Given the description of an element on the screen output the (x, y) to click on. 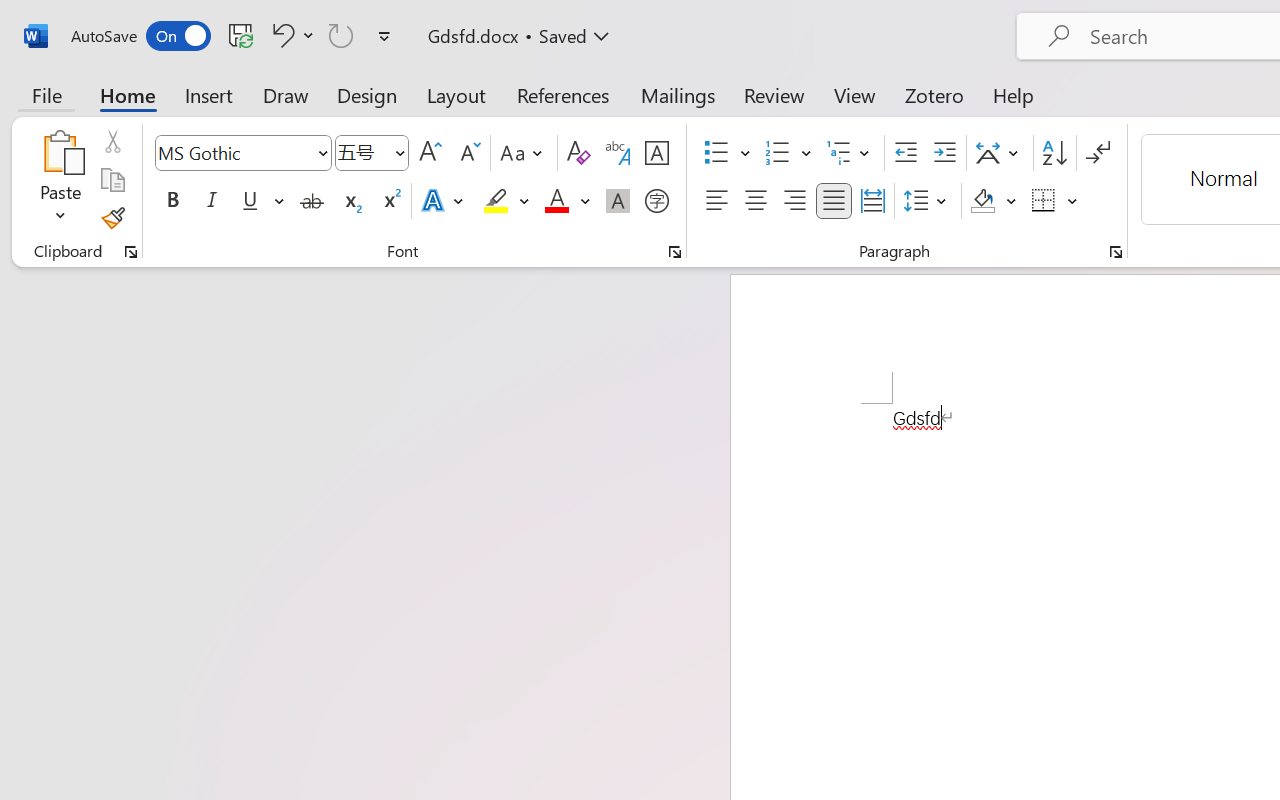
Update License (785, 386)
Save As (69, 397)
New (69, 157)
OneNote (844, 351)
Sign out (208, 238)
Office Theme (370, 480)
Get Add-ins (69, 264)
Update Options (685, 512)
Access (894, 351)
Back (69, 65)
